Given the description of an element on the screen output the (x, y) to click on. 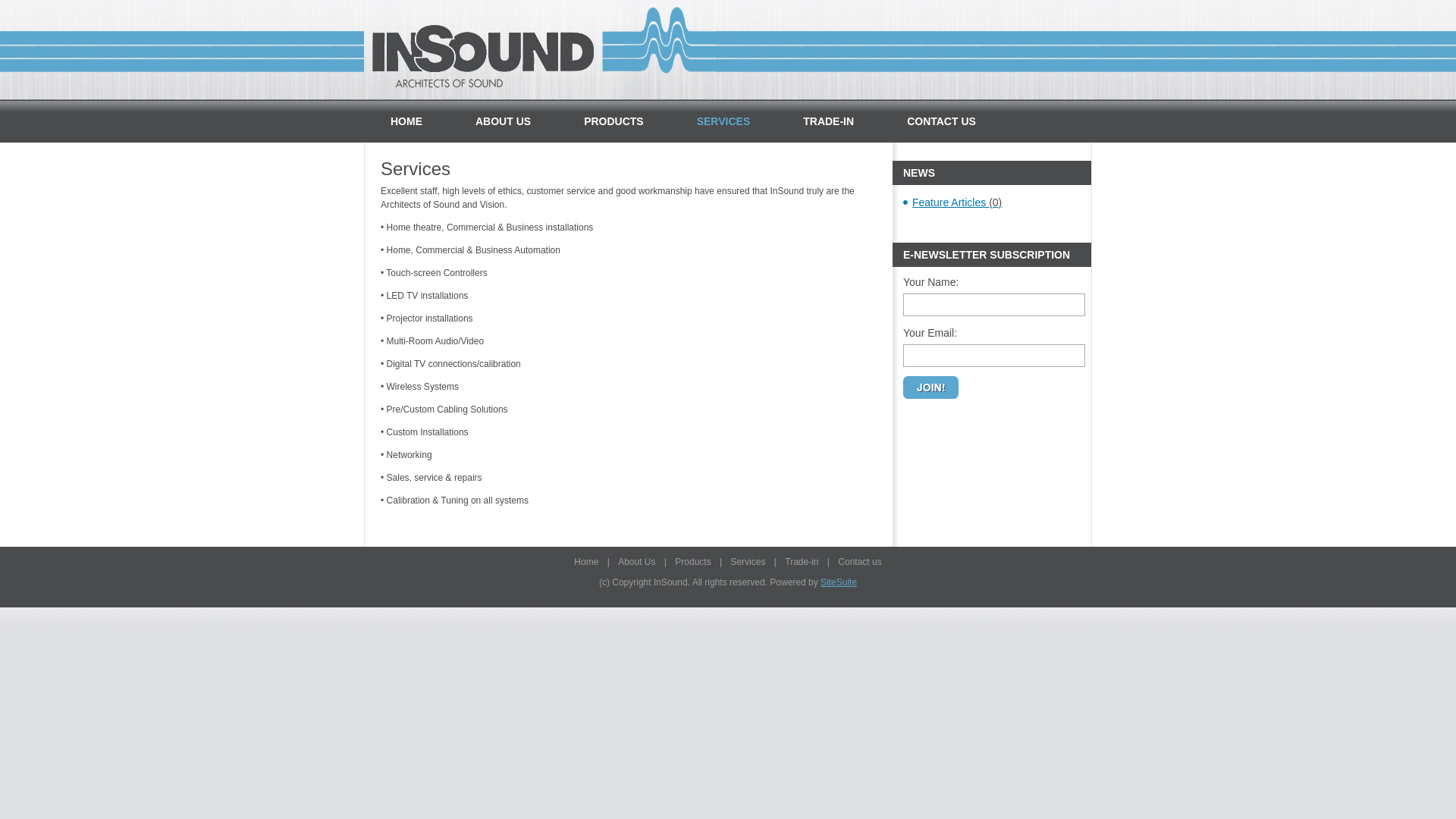
Feature Articles (0) Element type: text (978, 202)
Trade-in Element type: text (801, 561)
CONTACT US Element type: text (941, 121)
SiteSuite Element type: text (838, 582)
ABOUT US Element type: text (502, 121)
HOME Element type: text (406, 121)
Subscribe Element type: hover (930, 387)
InSound Element type: hover (483, 49)
Home Element type: text (585, 561)
TRADE-IN Element type: text (828, 121)
About Us Element type: text (636, 561)
Products Element type: text (692, 561)
SERVICES Element type: text (723, 121)
Contact us Element type: text (859, 561)
Services Element type: text (747, 561)
InSound Element type: hover (658, 49)
PRODUCTS Element type: text (613, 121)
